Given the description of an element on the screen output the (x, y) to click on. 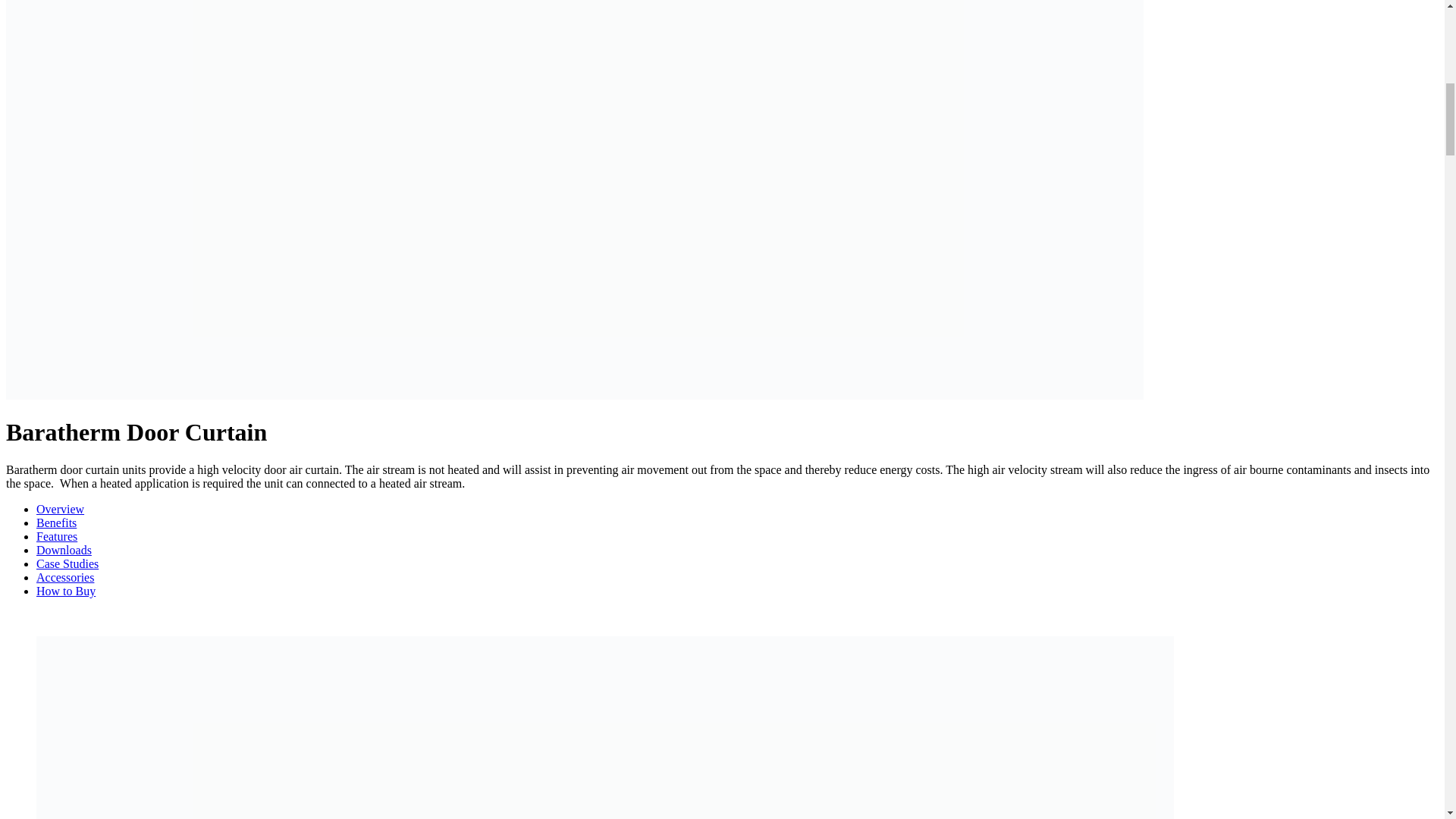
Benefits (56, 522)
How to Buy (66, 590)
Downloads (63, 549)
Accessories (65, 576)
Case Studies (67, 563)
Features (56, 535)
Overview (60, 508)
